Given the description of an element on the screen output the (x, y) to click on. 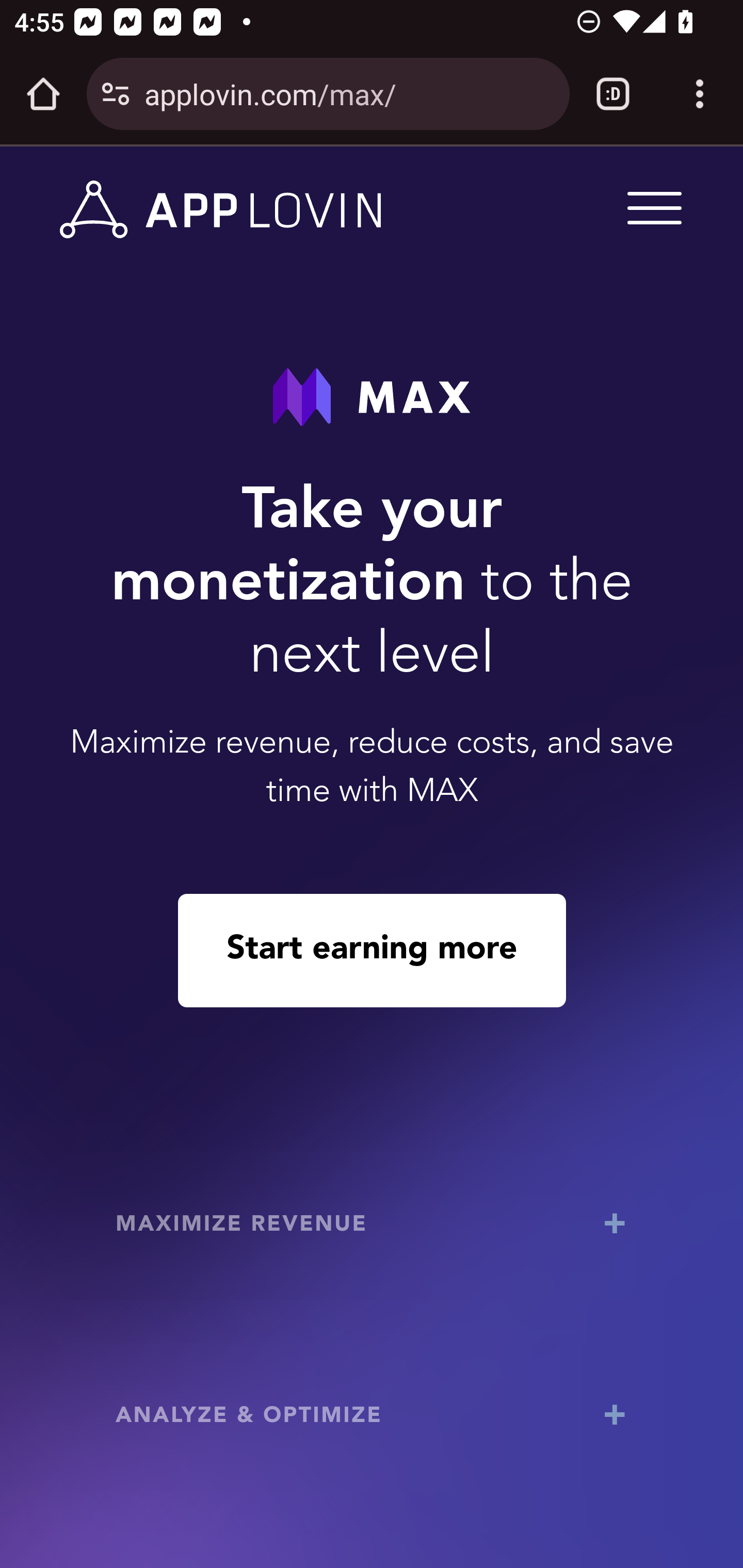
Open the home page (43, 93)
Connection is secure (115, 93)
Switch or close tabs (612, 93)
Customize and control Google Chrome (699, 93)
applovin.com/max/ (349, 92)
Menu Trigger (650, 207)
www.applovin (220, 209)
Start earning more (371, 950)
